Given the description of an element on the screen output the (x, y) to click on. 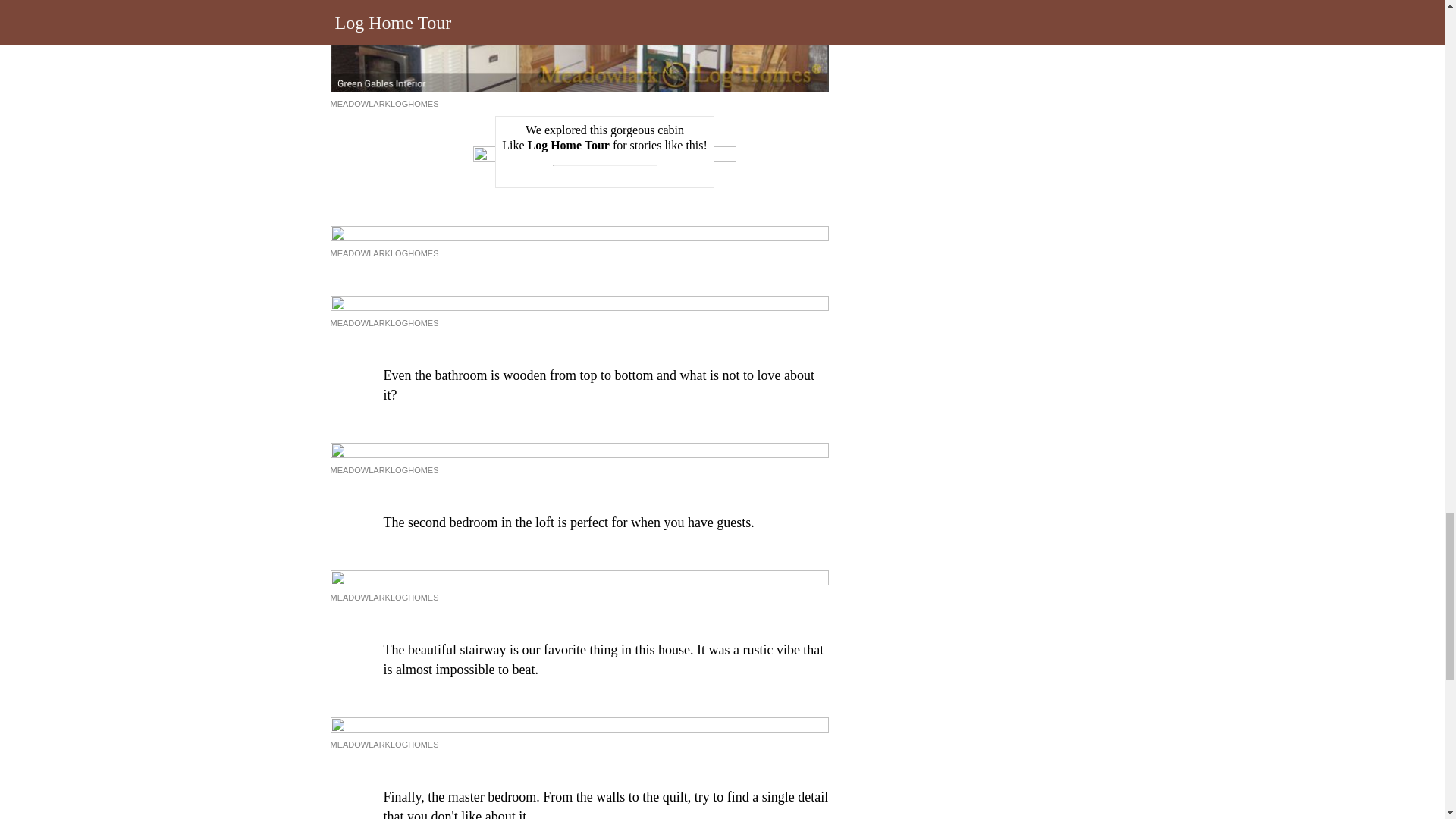
MEADOWLARKLOGHOMES (384, 470)
MEADOWLARKLOGHOMES (384, 252)
MEADOWLARKLOGHOMES (384, 744)
MEADOWLARKLOGHOMES (384, 103)
MEADOWLARKLOGHOMES (384, 596)
MEADOWLARKLOGHOMES (384, 322)
